Given the description of an element on the screen output the (x, y) to click on. 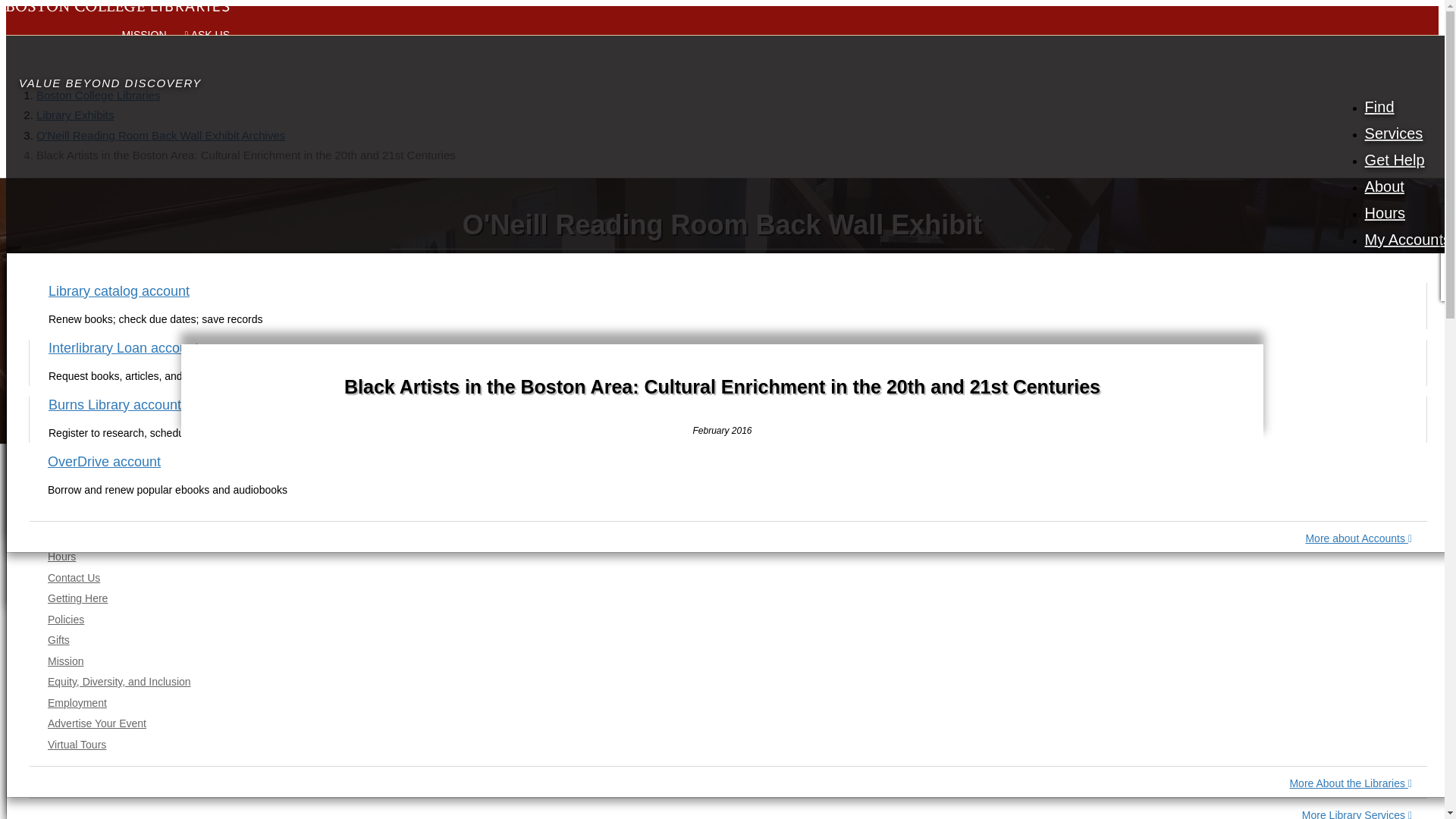
Collections (725, 718)
Catalog Simple Search (726, 312)
Services (1394, 132)
Article search (726, 501)
Journals (726, 480)
Find by Citation (726, 522)
Popular Books (726, 353)
Books, Media, and more (727, 289)
Course Reserves (726, 373)
Google Scholar (726, 654)
Catalog Advanced Search (726, 577)
Outside BC (726, 332)
